Given the description of an element on the screen output the (x, y) to click on. 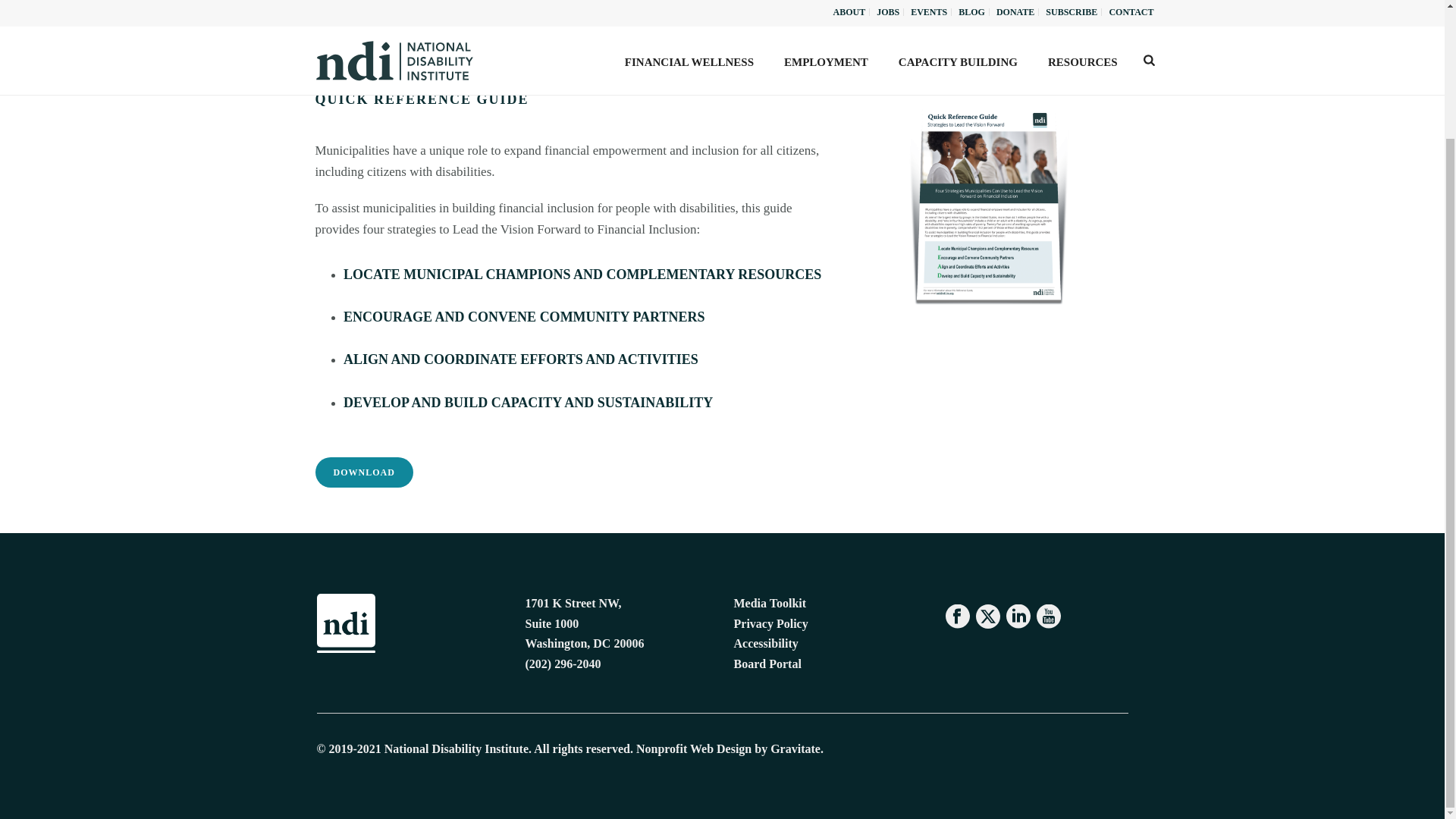
ndi-footer-logomark (346, 622)
DOWNLOAD (364, 472)
